Given the description of an element on the screen output the (x, y) to click on. 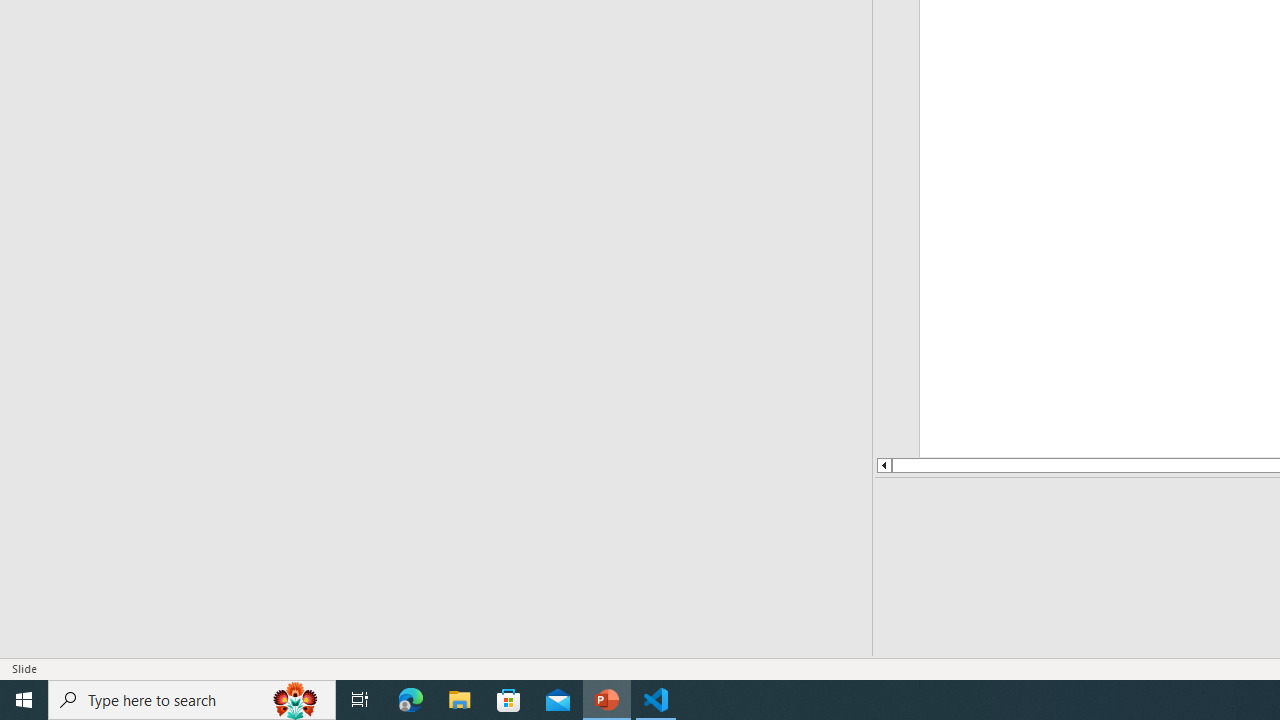
Search highlights icon opens search home window (295, 699)
Type here to search (191, 699)
Visual Studio Code - 1 running window (656, 699)
Microsoft Store (509, 699)
Task View (359, 699)
PowerPoint - 1 running window (607, 699)
File Explorer (460, 699)
Microsoft Edge (411, 699)
